Given the description of an element on the screen output the (x, y) to click on. 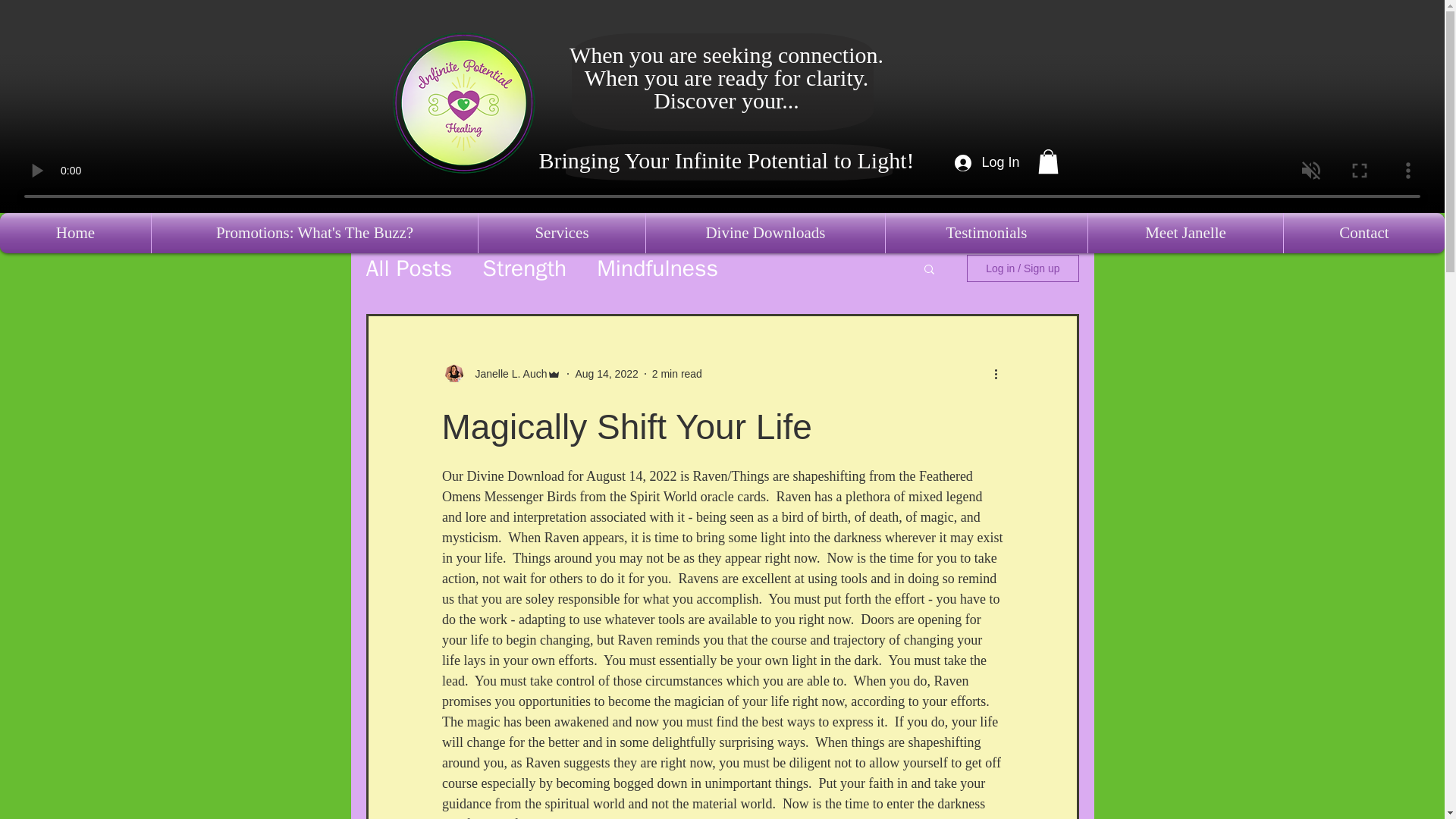
Strength (523, 268)
Promotions: What's The Buzz? (314, 232)
All Posts (408, 268)
Janelle L. Auch (500, 373)
Janelle L. Auch (506, 374)
Aug 14, 2022 (606, 373)
Mindfulness (656, 268)
Log In (984, 162)
2 min read (676, 373)
Home (75, 232)
